Given the description of an element on the screen output the (x, y) to click on. 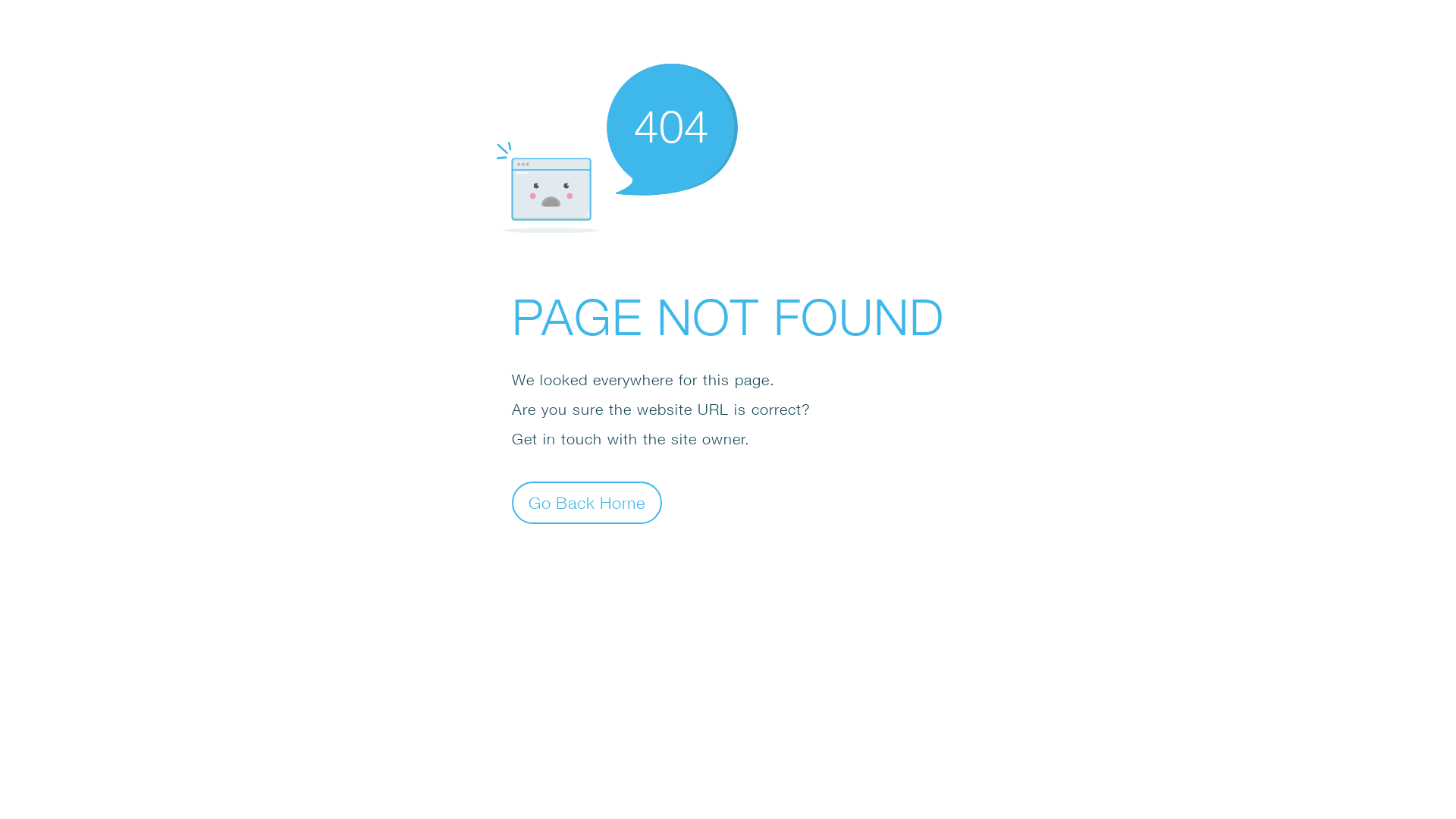
Go Back Home Element type: text (586, 502)
